Given the description of an element on the screen output the (x, y) to click on. 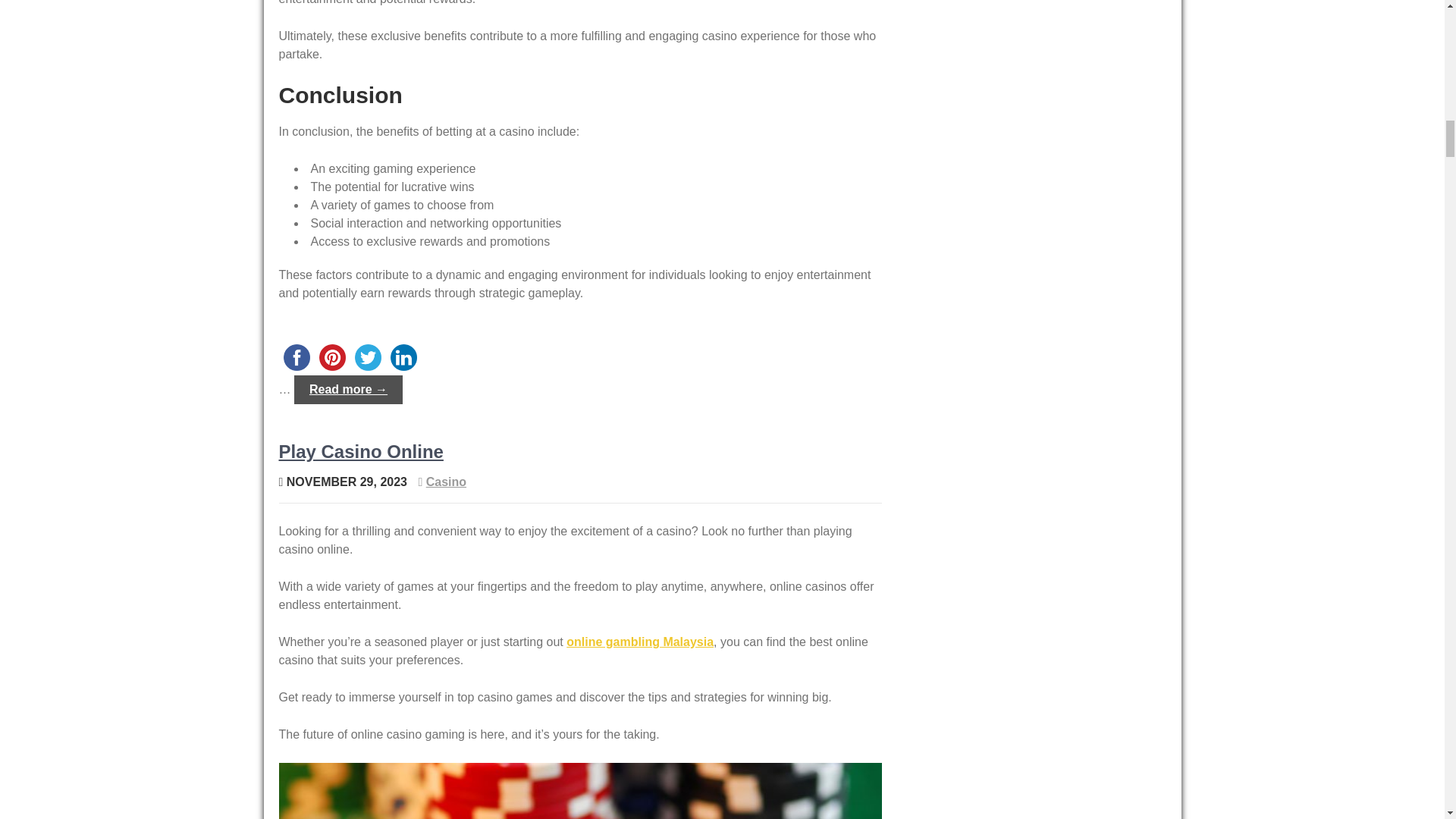
Play Casino Online (361, 451)
LinkedIn (402, 357)
online gambling Malaysia (639, 641)
Casino (445, 481)
Facebook (296, 357)
Pinterest (331, 357)
Twitter (367, 357)
